Given the description of an element on the screen output the (x, y) to click on. 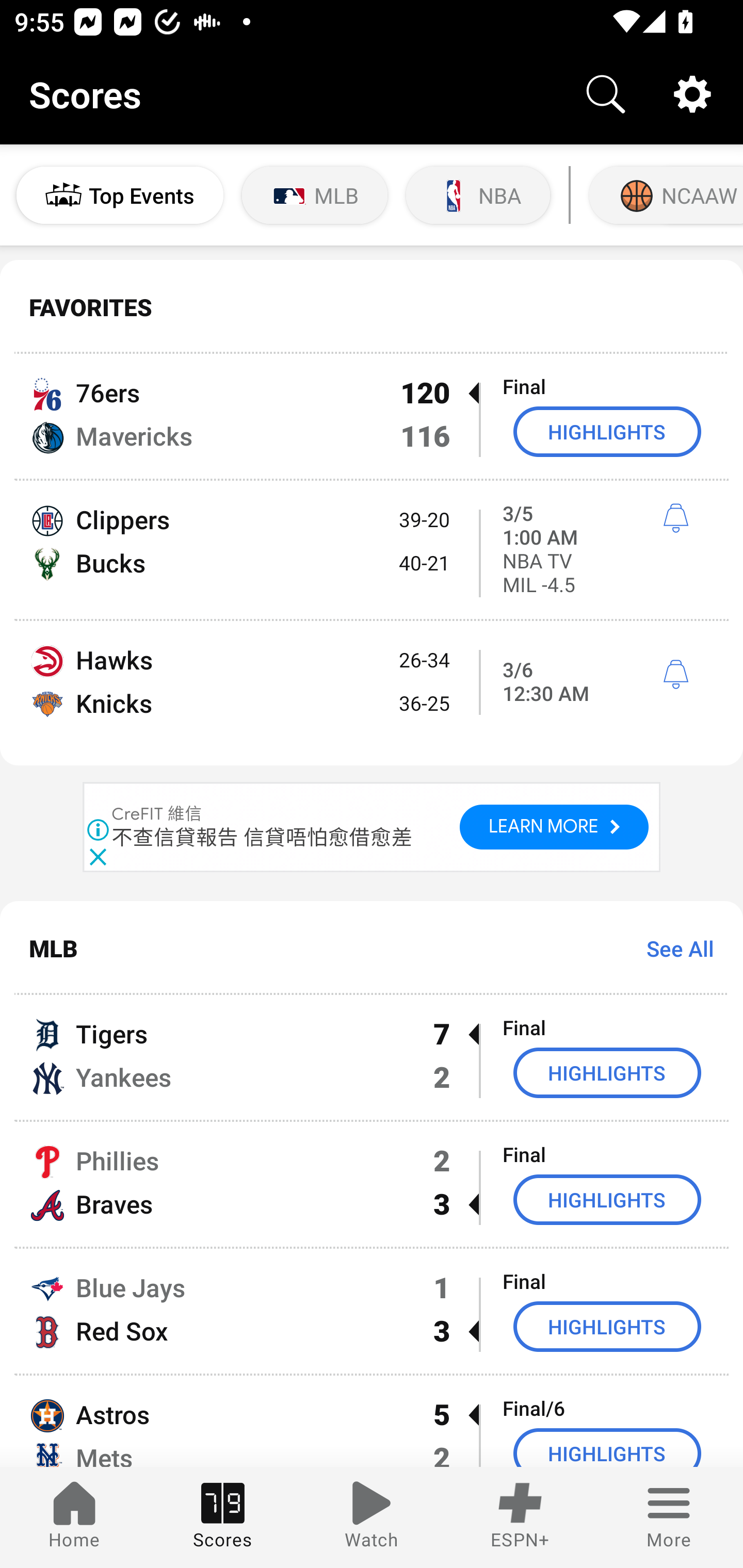
Search (605, 93)
Settings (692, 93)
 Top Events (119, 194)
MLB (314, 194)
NBA (477, 194)
NCAAW (664, 194)
FAVORITES (371, 307)
76ers 120  Final Mavericks 116 HIGHLIGHTS (371, 416)
HIGHLIGHTS (607, 431)
í (675, 517)
Hawks 26-34 Knicks 36-25 3/6 12:30 AM í (371, 692)
í (675, 674)
CreFIT 維信 (157, 814)
LEARN MORE (553, 825)
不查信貸報告 信貸唔怕愈借愈差 (262, 837)
MLB See All (371, 948)
See All (673, 947)
Tigers 7  Final Yankees 2 HIGHLIGHTS (371, 1057)
HIGHLIGHTS (607, 1072)
Phillies 2 Final Braves 3  HIGHLIGHTS (371, 1183)
HIGHLIGHTS (607, 1199)
Blue Jays 1 Final Red Sox 3  HIGHLIGHTS (371, 1310)
HIGHLIGHTS (607, 1326)
Astros 5  Final/6 Mets 2 HIGHLIGHTS (371, 1421)
HIGHLIGHTS (607, 1447)
Home (74, 1517)
Watch (371, 1517)
ESPN+ (519, 1517)
More (668, 1517)
